Given the description of an element on the screen output the (x, y) to click on. 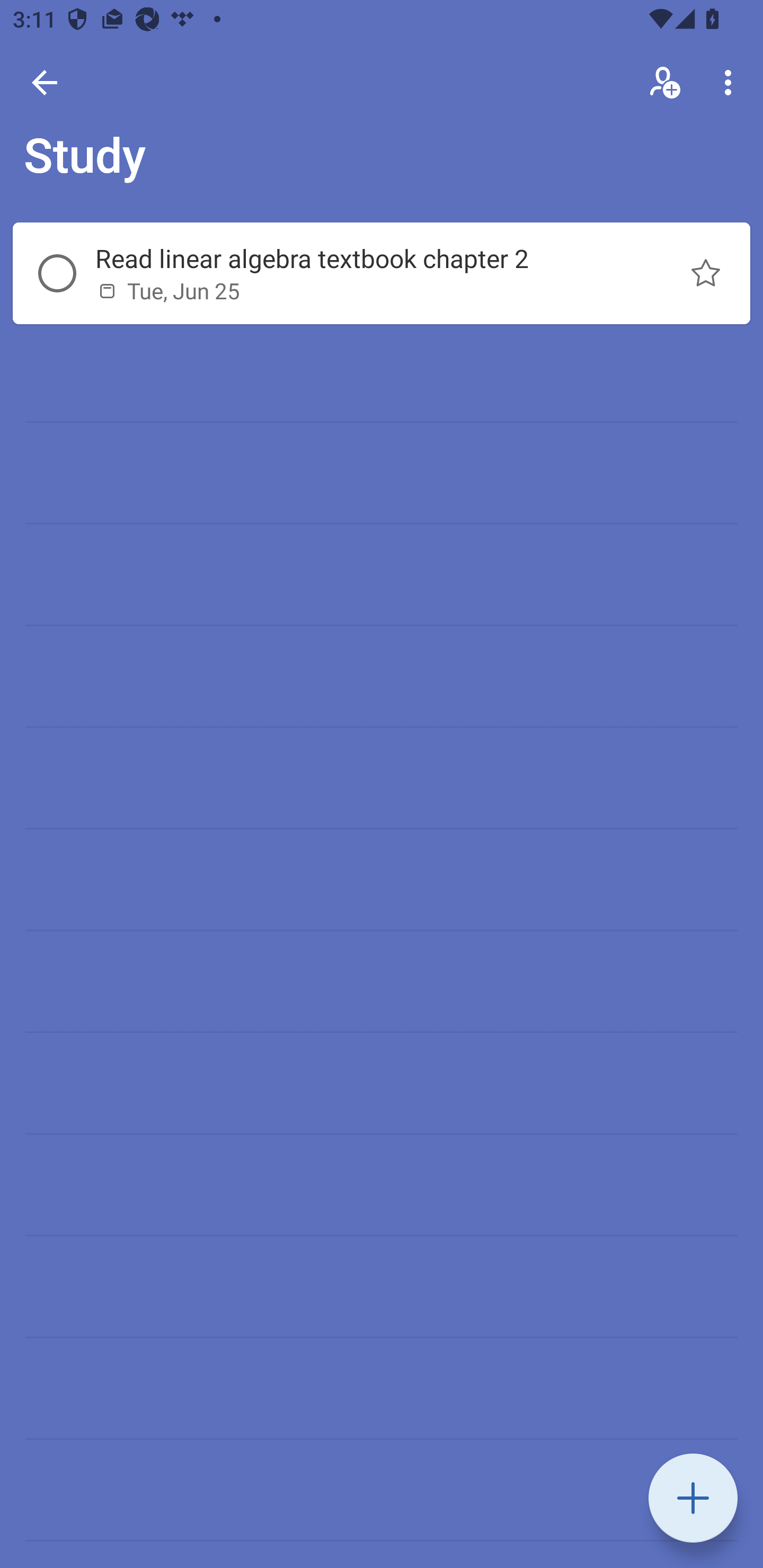
Study Back Share list More options (381, 108)
Back (44, 82)
testappium002@outlook.com Enter search (190, 82)
